Given the description of an element on the screen output the (x, y) to click on. 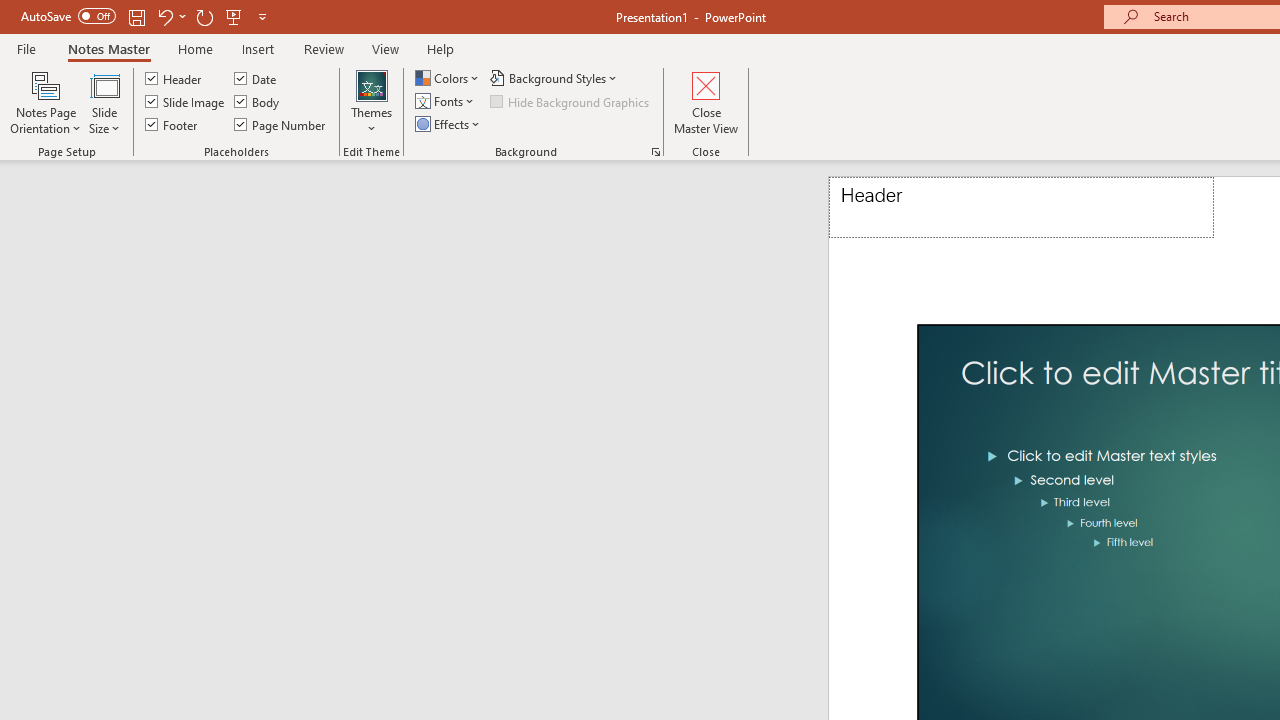
Effects (449, 124)
Date (256, 78)
Page Number (280, 124)
Fonts (446, 101)
